Given the description of an element on the screen output the (x, y) to click on. 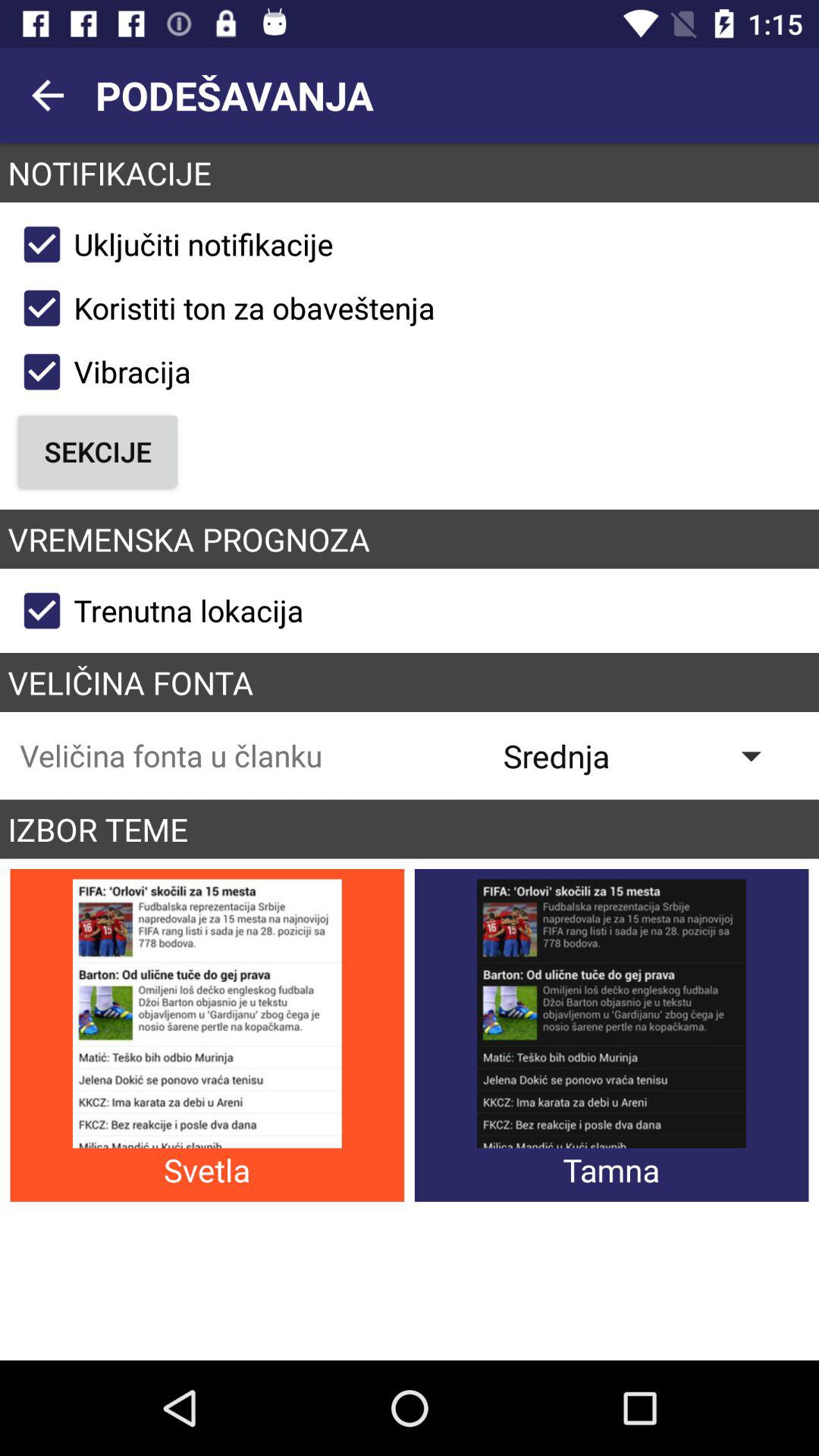
turn off icon below the koristiti ton za item (100, 371)
